Given the description of an element on the screen output the (x, y) to click on. 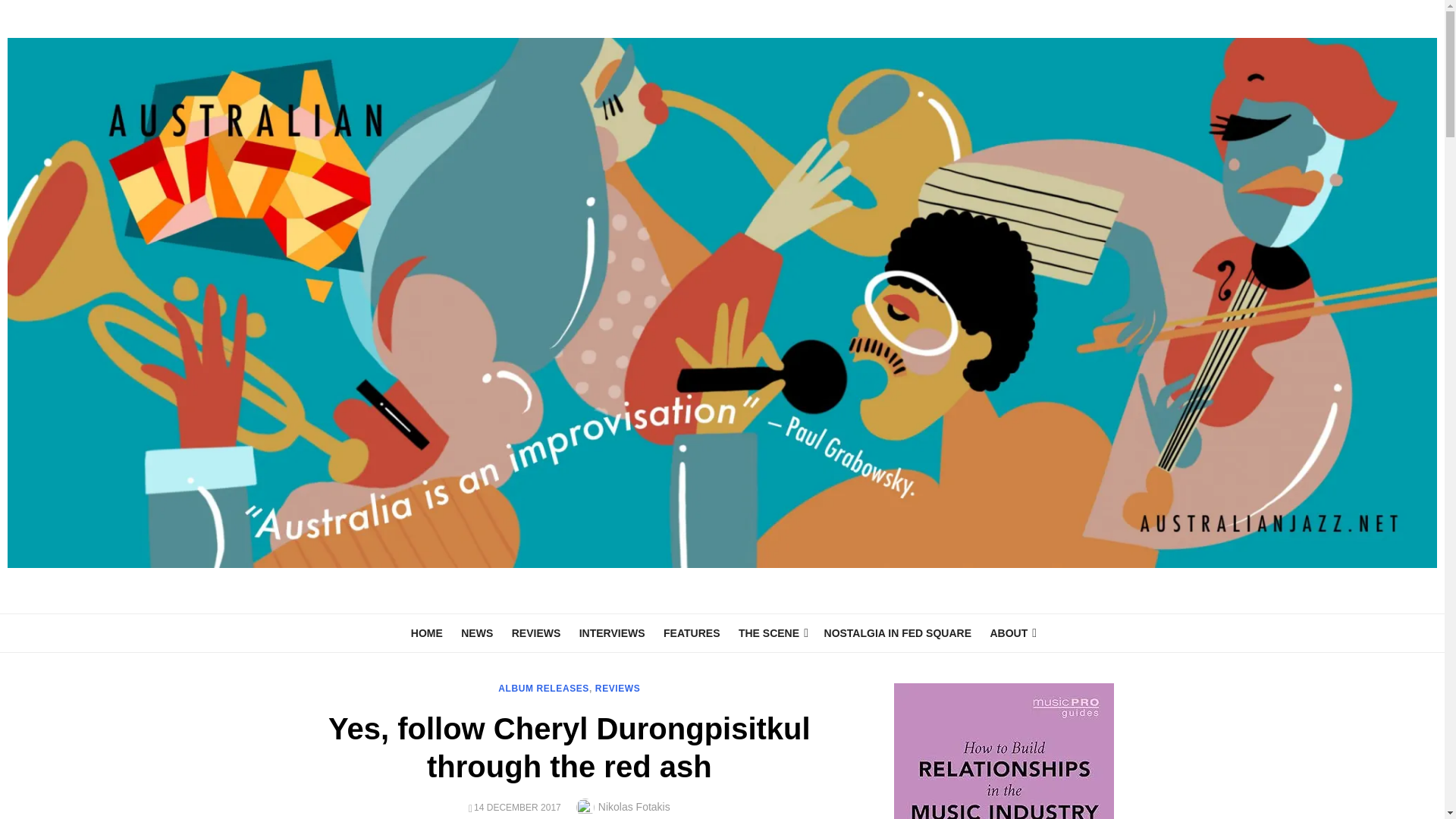
REVIEWS (536, 633)
FEATURES (691, 633)
INTERVIEWS (612, 633)
HOME (426, 633)
THE SCENE (771, 633)
NEWS (476, 633)
